Given the description of an element on the screen output the (x, y) to click on. 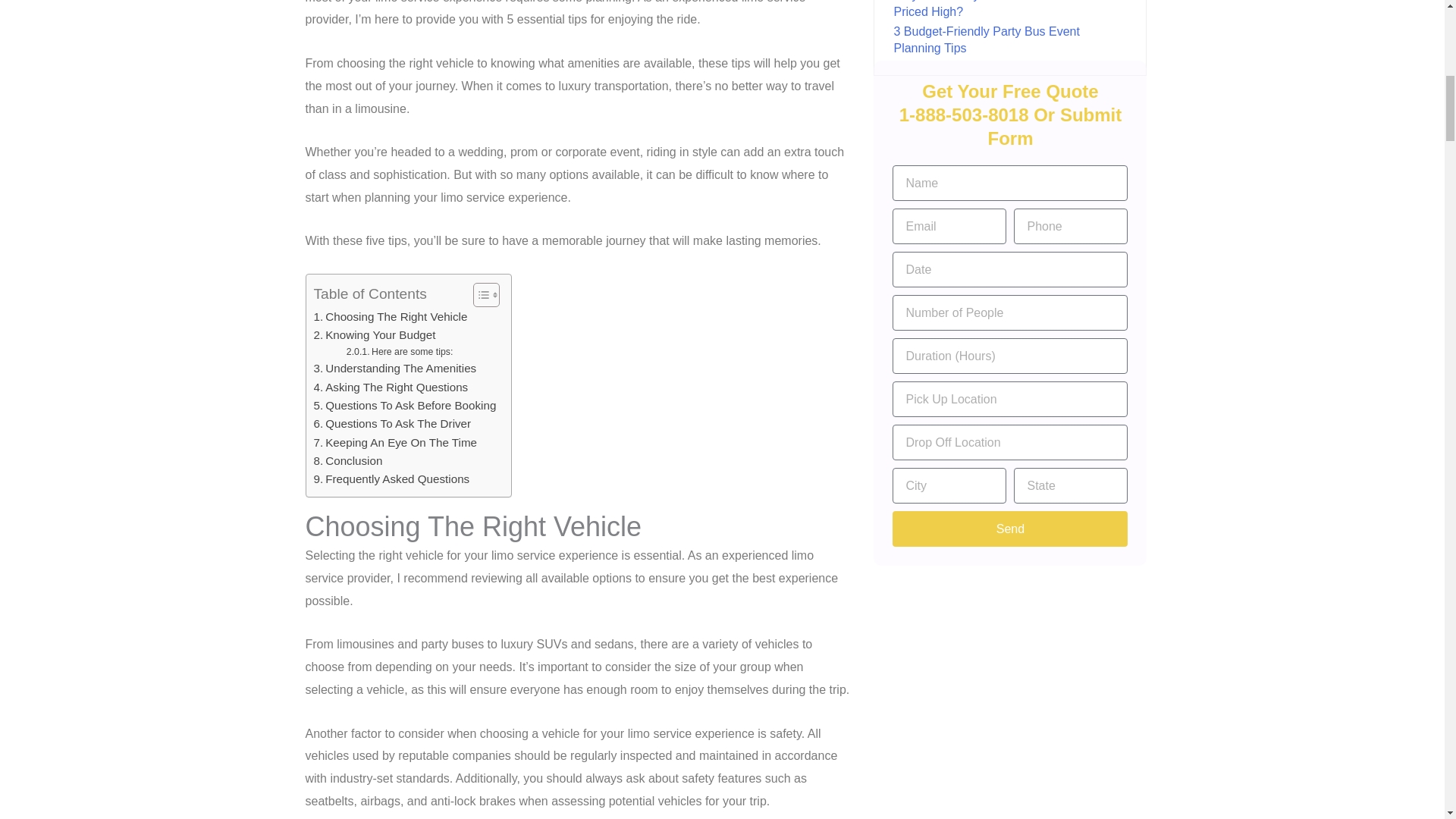
Frequently Asked Questions (392, 479)
Questions To Ask The Driver (392, 423)
Here are some tips: (399, 352)
Questions To Ask Before Booking (405, 405)
Conclusion (348, 461)
Understanding The Amenities (395, 368)
Keeping An Eye On The Time (395, 443)
Asking The Right Questions (391, 387)
Choosing The Right Vehicle (390, 316)
Understanding The Amenities (395, 368)
